Given the description of an element on the screen output the (x, y) to click on. 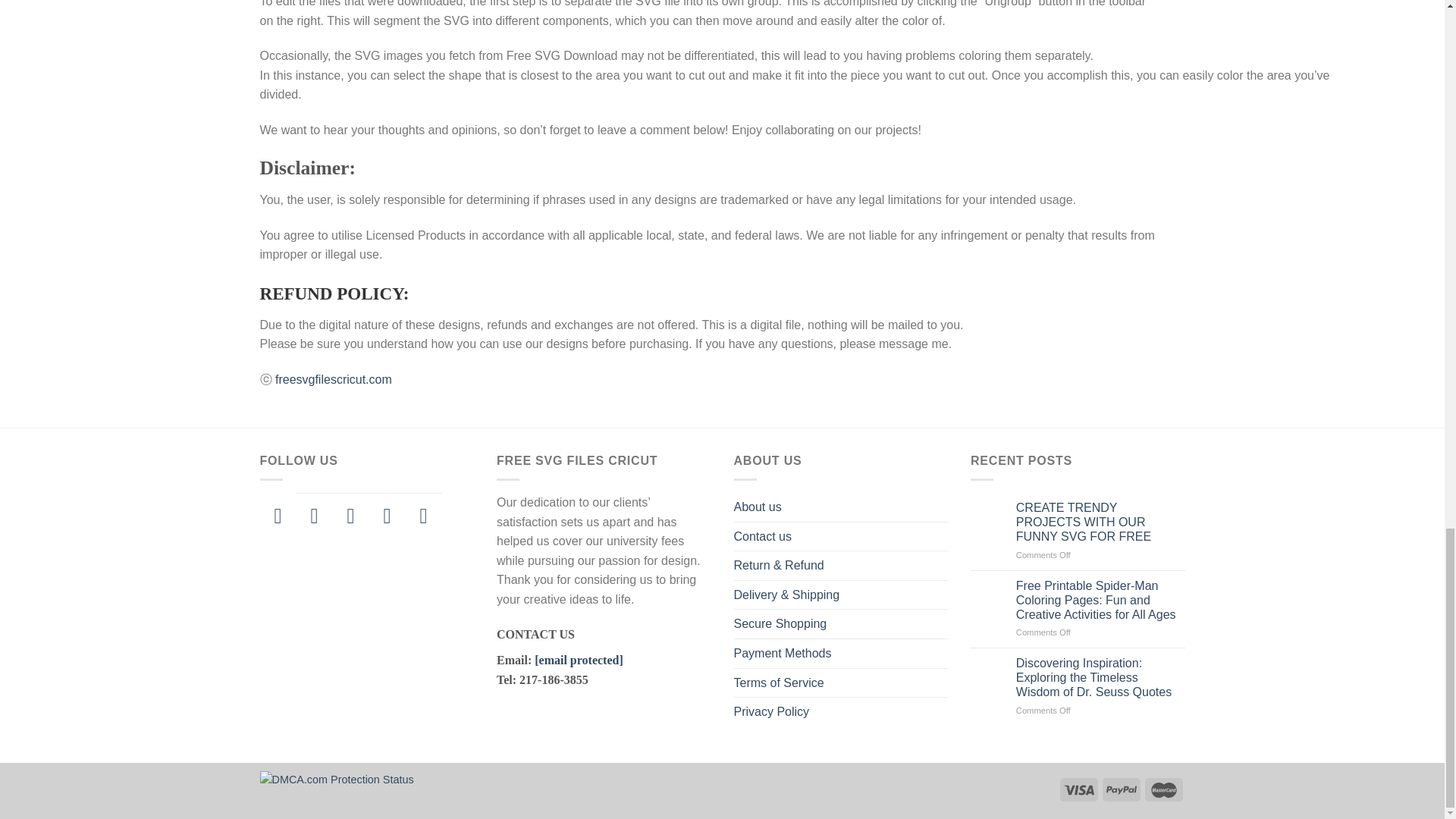
DMCA.com Protection Status (336, 778)
CREATE TRENDY PROJECTS WITH OUR FUNNY SVG FOR FREE (1100, 522)
